Given the description of an element on the screen output the (x, y) to click on. 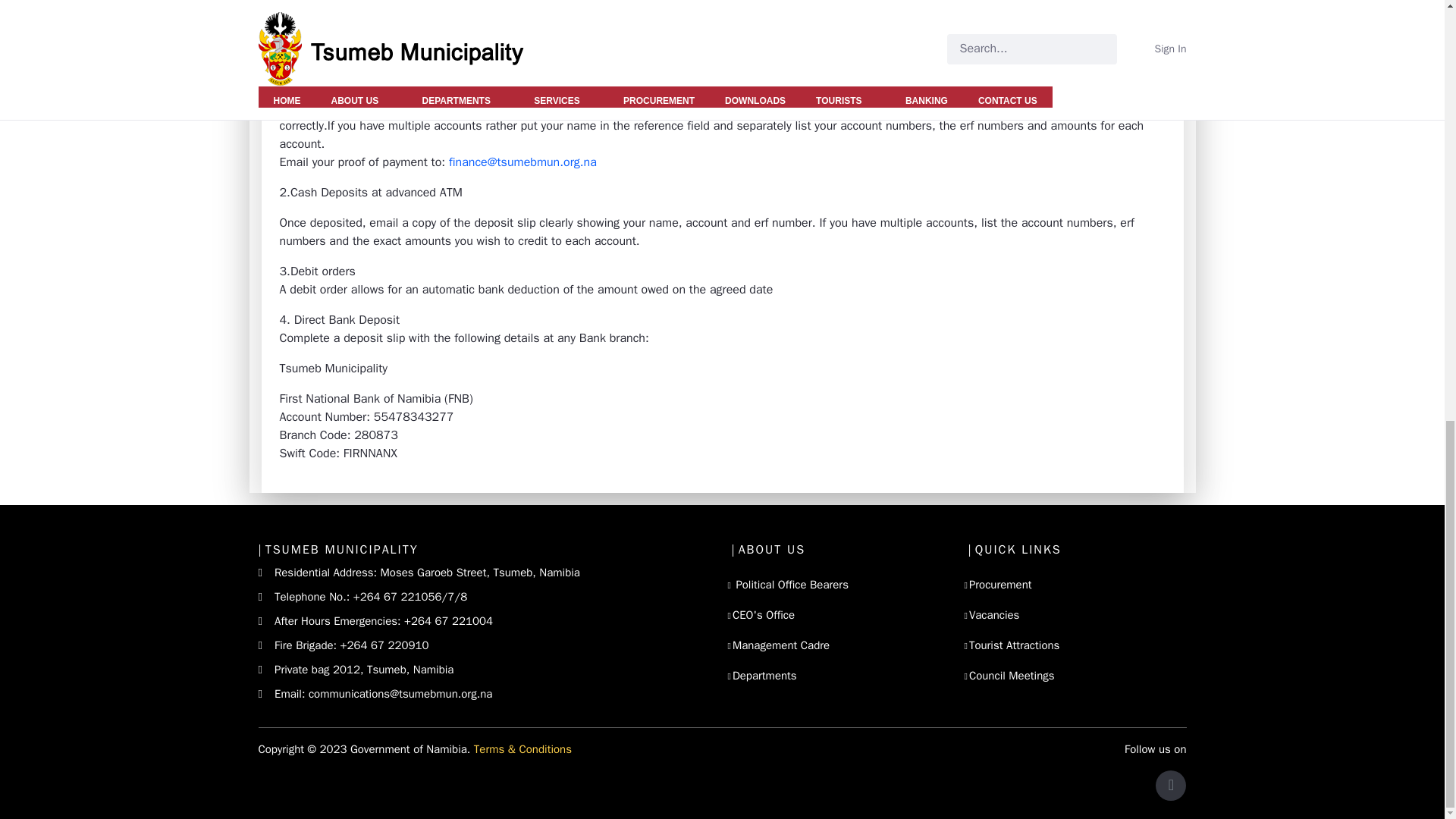
Political Office Bearers (790, 584)
Management Cadre (780, 644)
CEO's Office (763, 614)
